Given the description of an element on the screen output the (x, y) to click on. 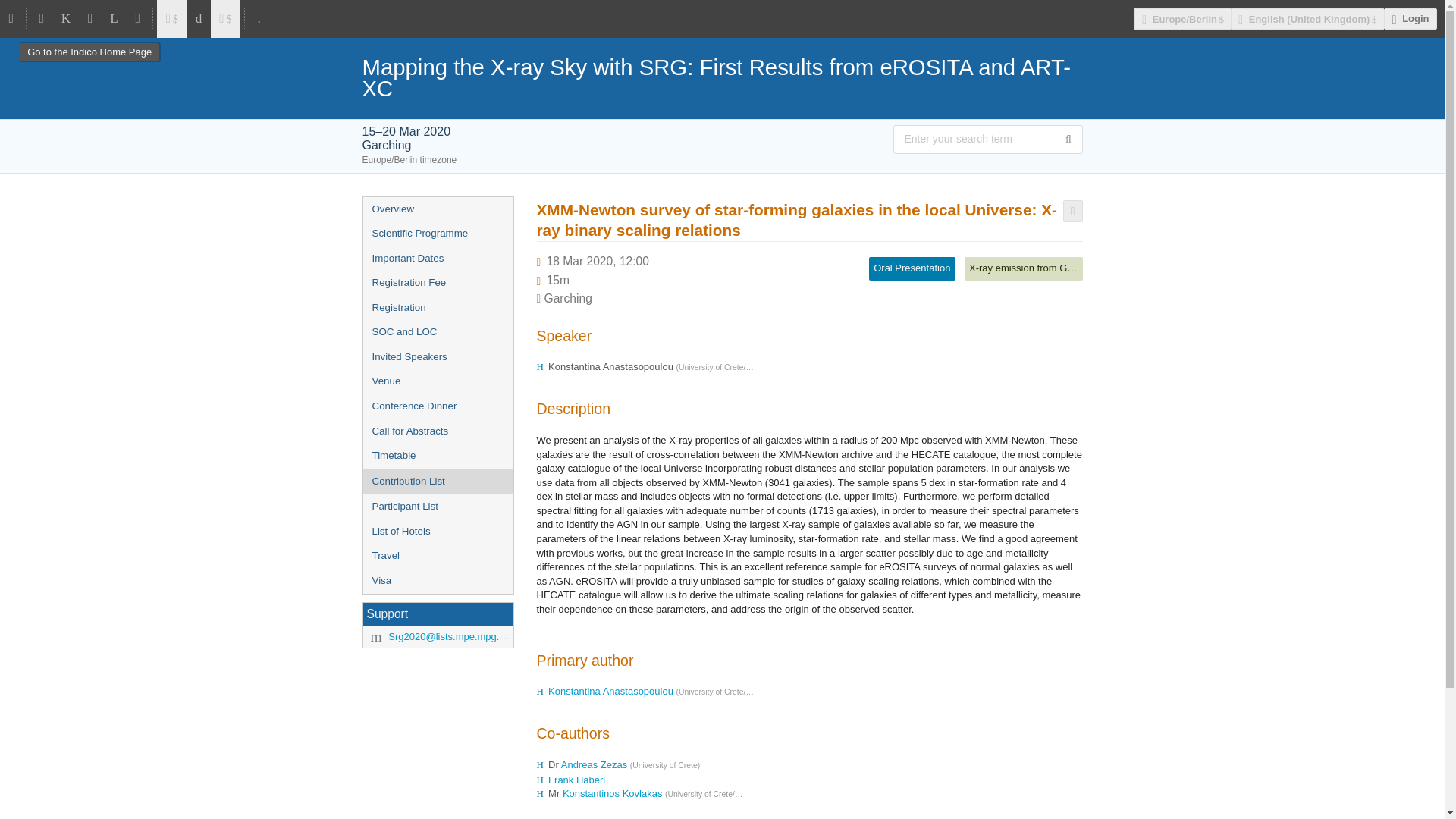
Registration (437, 308)
Overview (437, 209)
Login (1410, 19)
Important Dates (437, 258)
SOC and LOC (437, 332)
Registration Fee (437, 283)
Scientific Programme (437, 233)
Duration (558, 279)
Invited Speakers (437, 357)
Export (1072, 210)
